Given the description of an element on the screen output the (x, y) to click on. 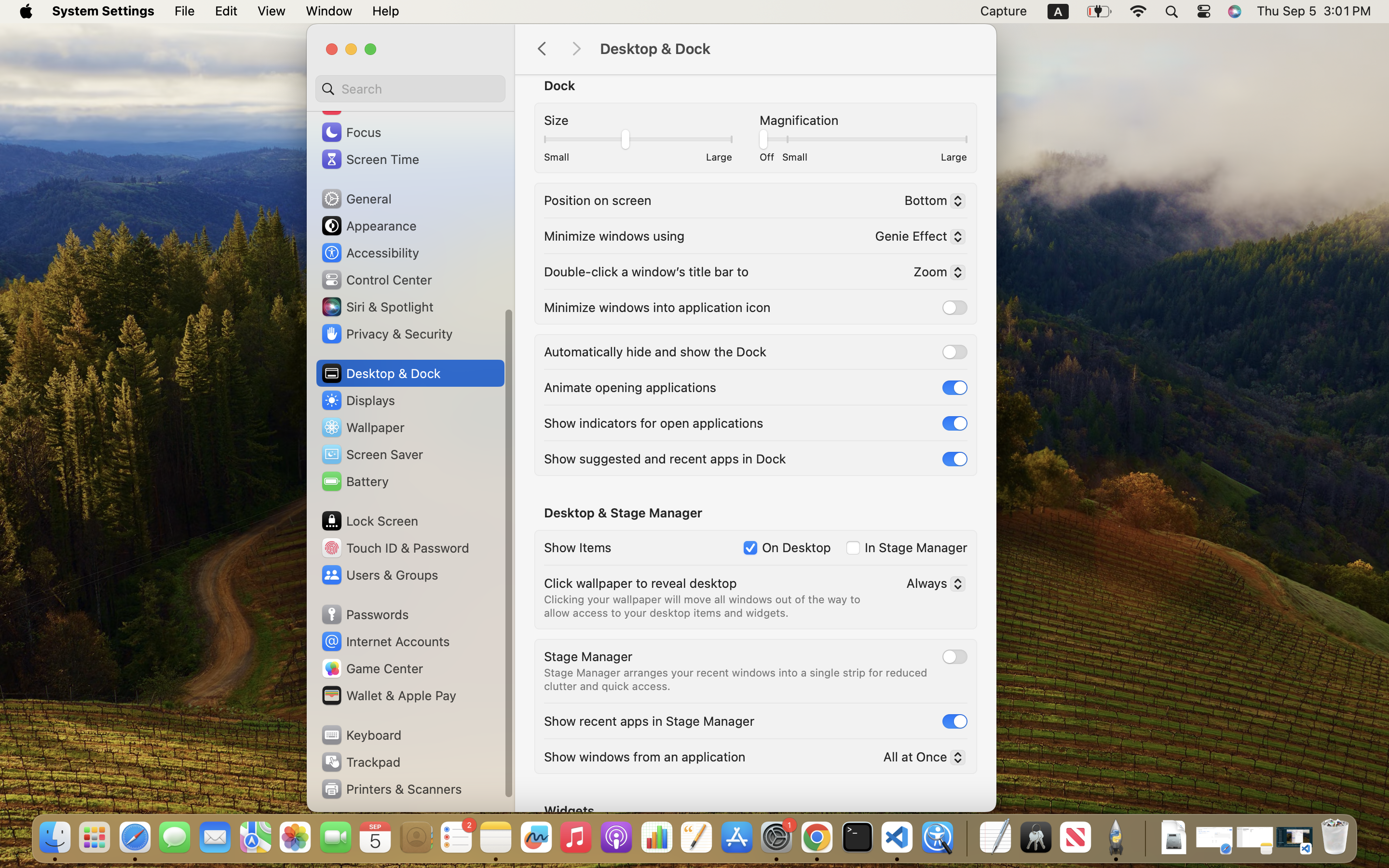
0.4285714328289032 Element type: AXDockItem (965, 837)
Internet Accounts Element type: AXStaticText (384, 640)
Show recent apps in Stage Manager Element type: AXStaticText (649, 720)
Screen Saver Element type: AXStaticText (371, 453)
